Given the description of an element on the screen output the (x, y) to click on. 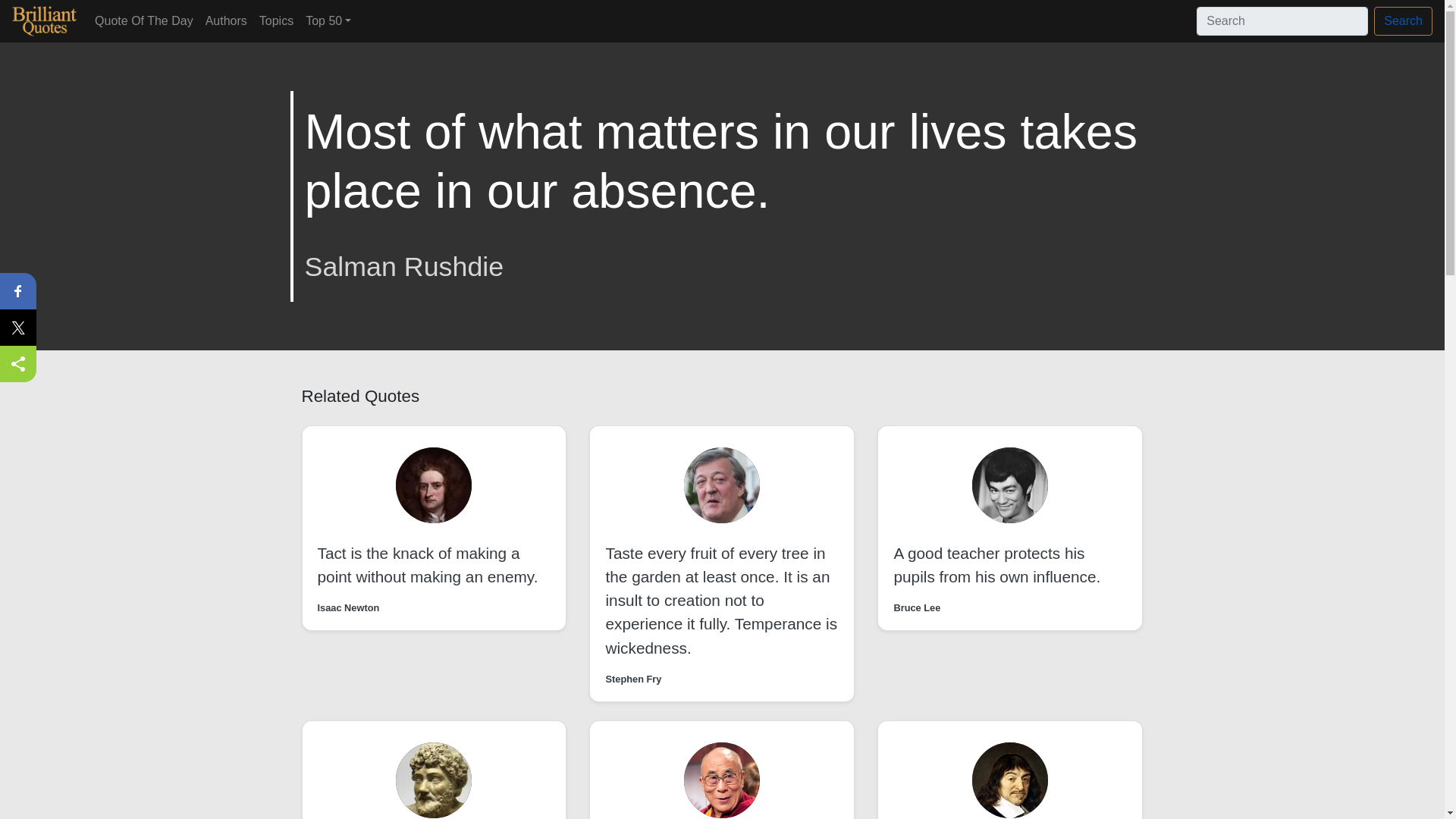
Quote Of The Day (143, 20)
Bruce Lee (916, 607)
Isaac Newton (347, 607)
A good teacher protects his pupils from his own influence. (996, 564)
Authors (226, 20)
Search (1403, 21)
Top 50 (327, 20)
Tact is the knack of making a point without making an enemy. (427, 564)
Topics (276, 20)
Stephen Fry (633, 678)
